Given the description of an element on the screen output the (x, y) to click on. 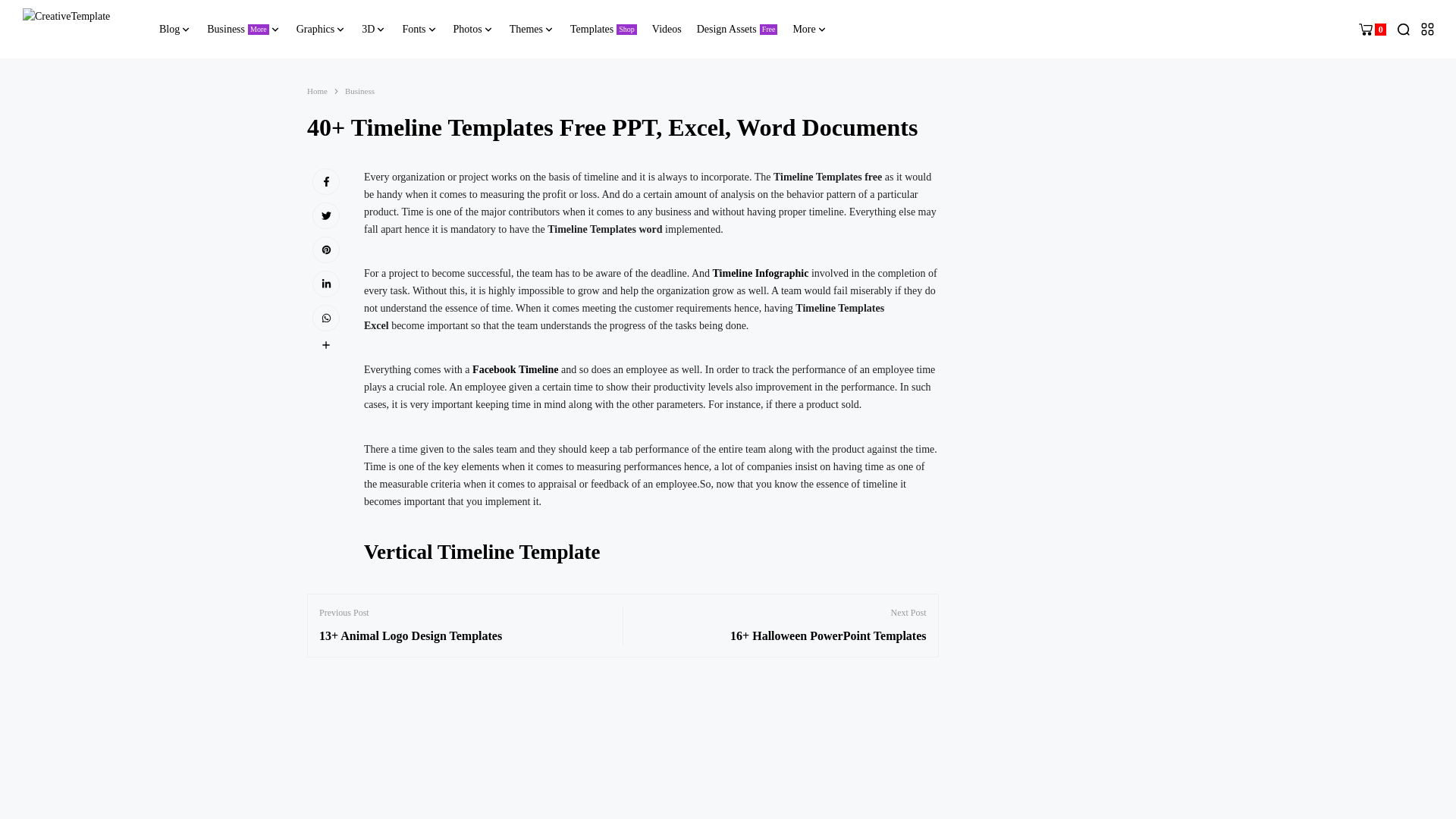
CreativeTemplate (79, 28)
Cart (1372, 28)
